Given the description of an element on the screen output the (x, y) to click on. 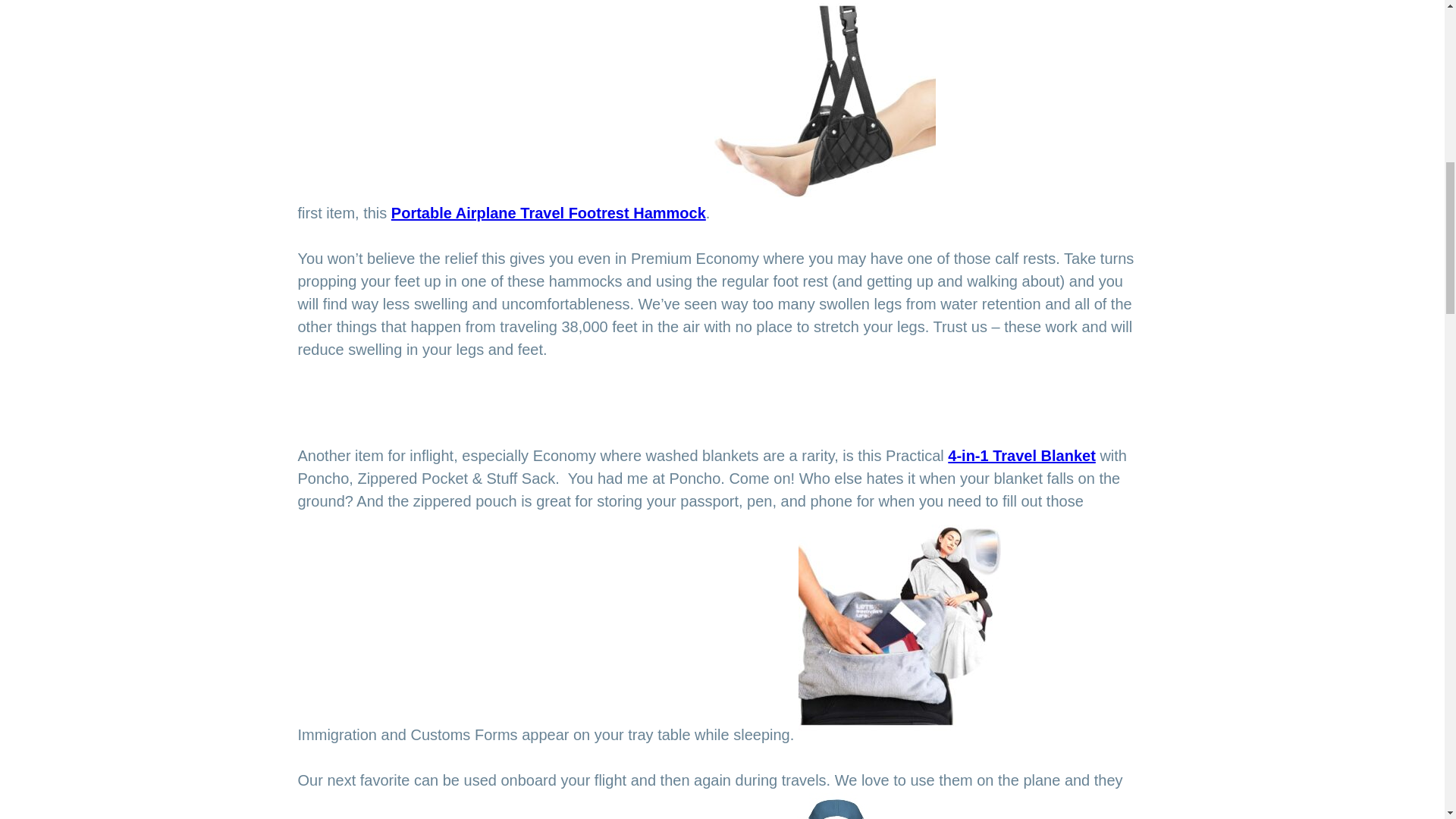
4-in-1 Travel Blanket (1021, 455)
Portable Airplane Travel Footrest Hammock (548, 212)
